Given the description of an element on the screen output the (x, y) to click on. 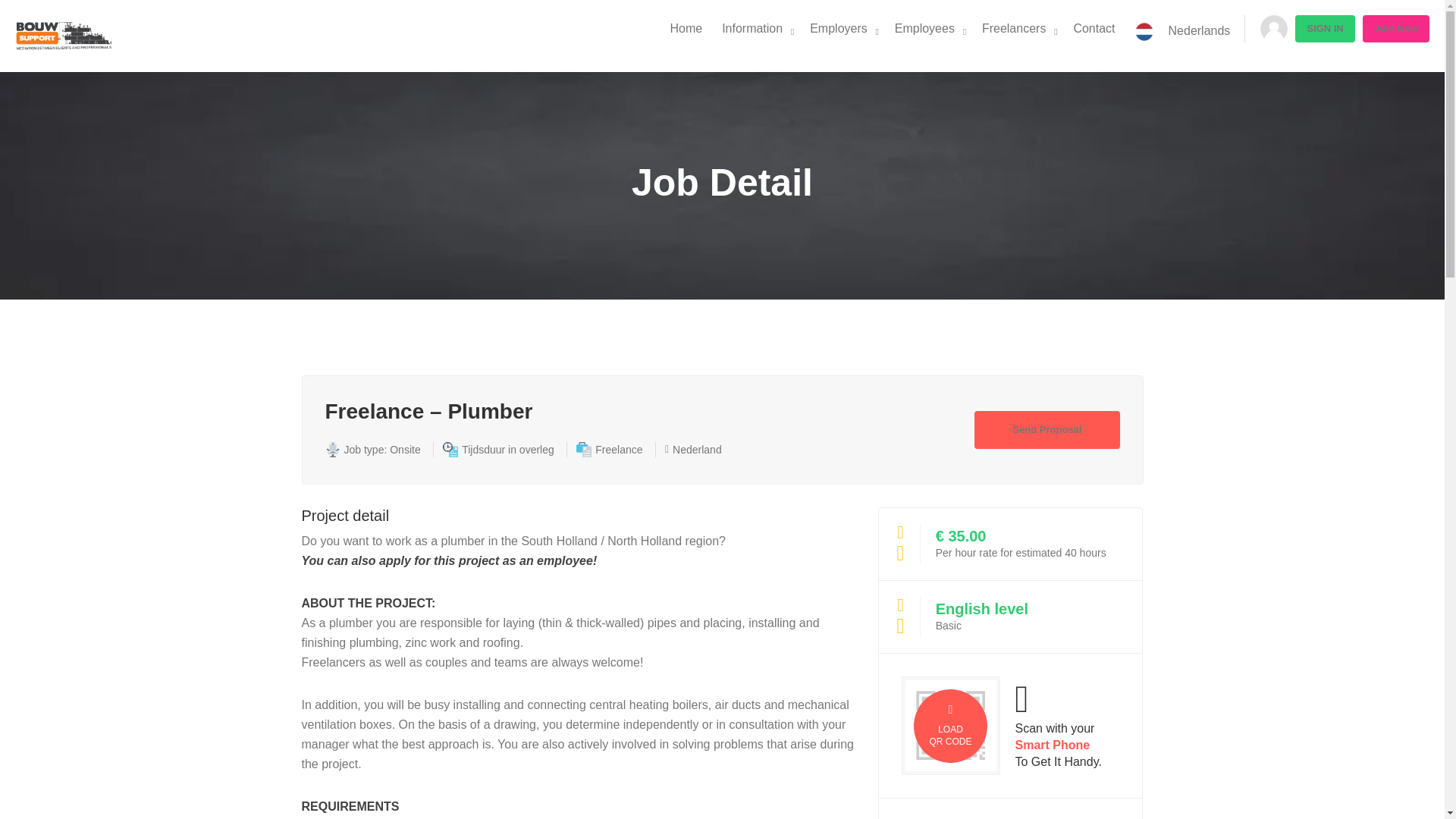
Nederlands (1182, 31)
Employers (838, 28)
Contact (1093, 28)
Home (685, 28)
Information (751, 28)
Employees (924, 28)
Freelancers (1013, 28)
